Given the description of an element on the screen output the (x, y) to click on. 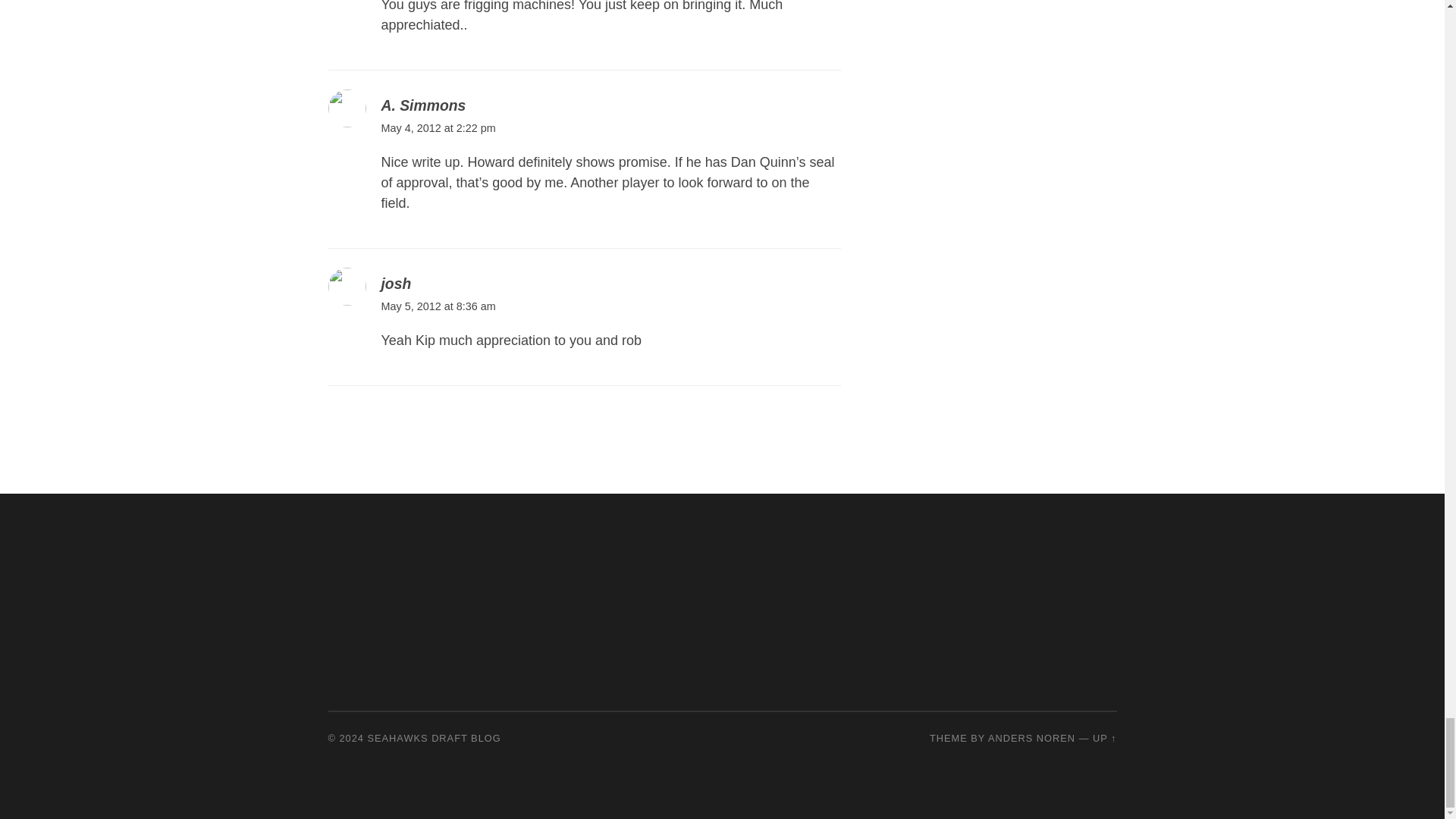
ANDERS NOREN (1031, 737)
To the top (1104, 737)
May 5, 2012 at 8:36 am (437, 306)
May 4, 2012 at 2:22 pm (437, 128)
SEAHAWKS DRAFT BLOG (434, 737)
